Given the description of an element on the screen output the (x, y) to click on. 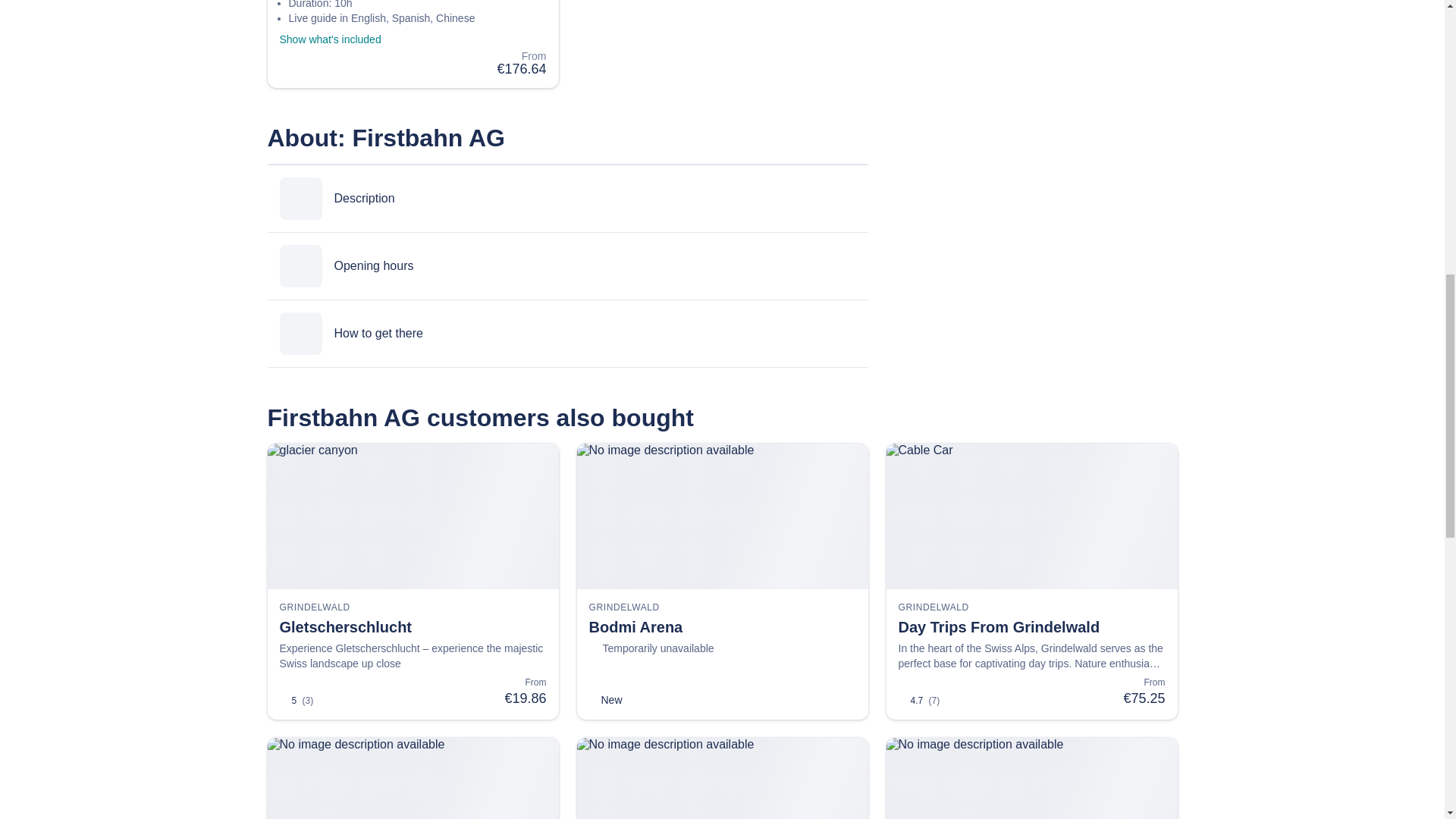
Show what's included (337, 38)
Opening hours (566, 265)
Gletscherschlucht (412, 627)
Bodmi Arena (722, 627)
Description (566, 198)
Day Trips From Grindelwald (1031, 627)
How to get there (566, 333)
